Given the description of an element on the screen output the (x, y) to click on. 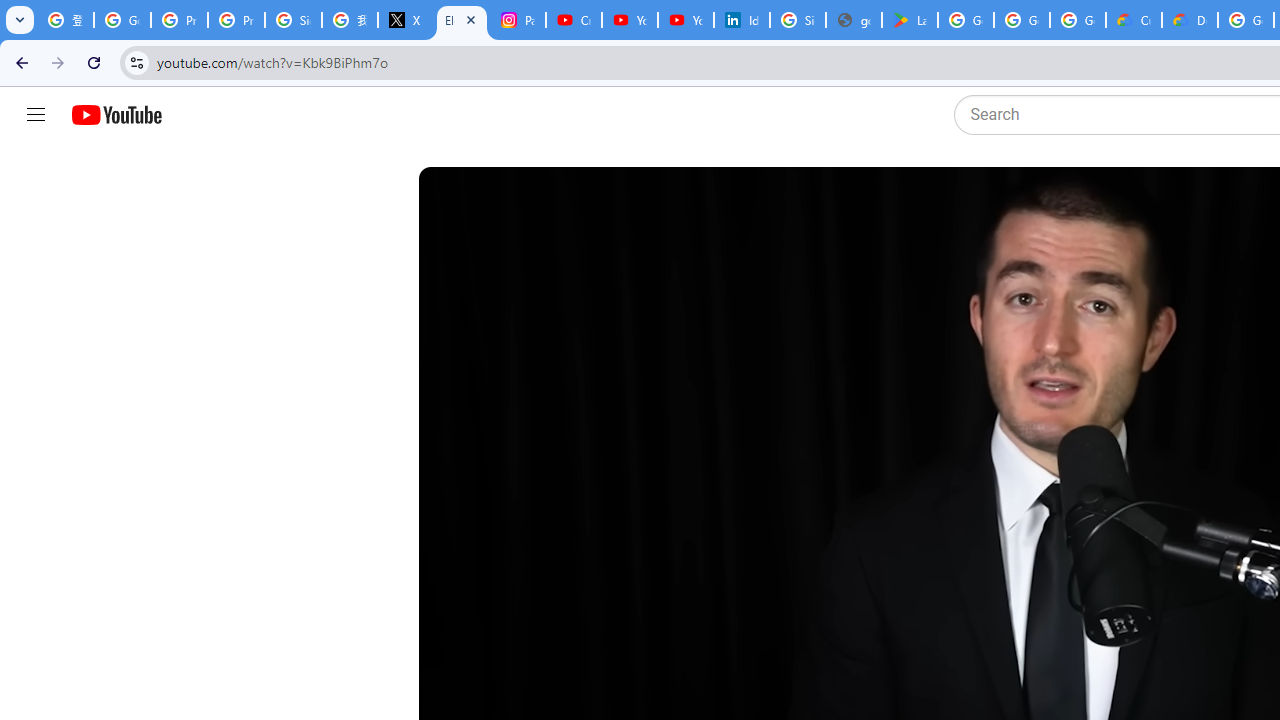
YouTube Home (116, 115)
Customer Care | Google Cloud (1133, 20)
Privacy Help Center - Policies Help (235, 20)
X (405, 20)
Last Shelter: Survival - Apps on Google Play (909, 20)
Guide (35, 115)
